Given the description of an element on the screen output the (x, y) to click on. 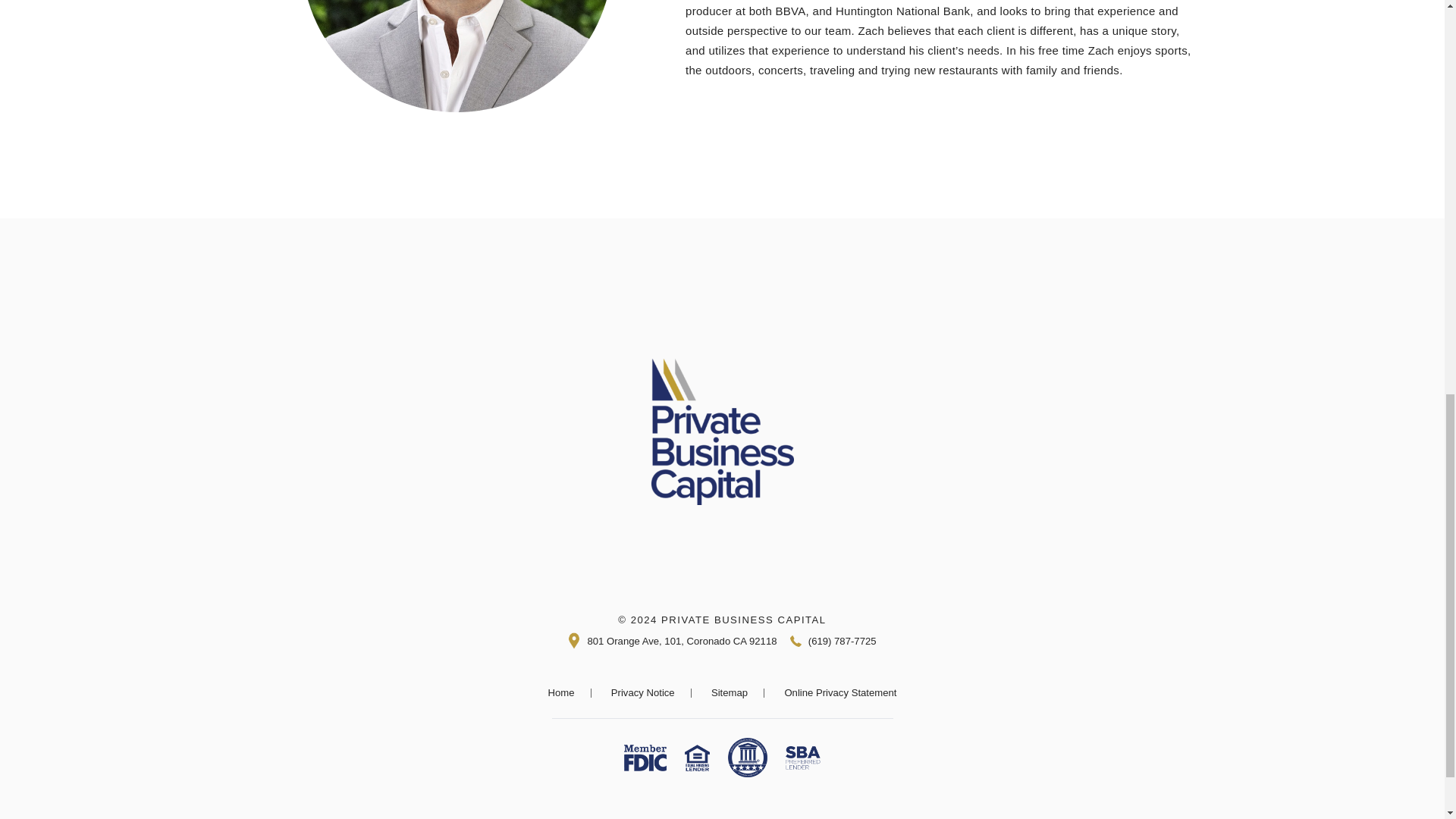
Sitemap (729, 692)
Online Privacy Statement (840, 692)
Privacy Notice (643, 692)
Home (561, 692)
